Given the description of an element on the screen output the (x, y) to click on. 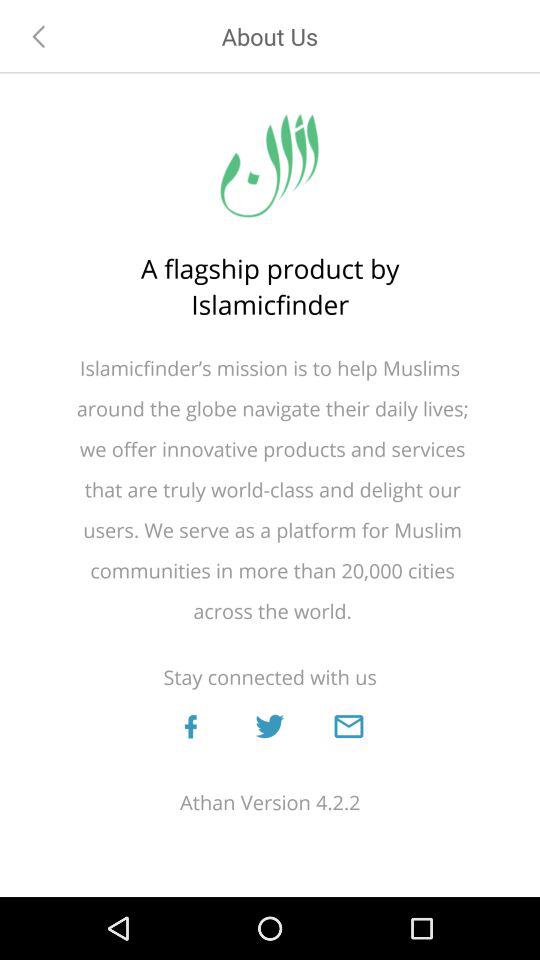
click to connect to our twitter (269, 726)
